Given the description of an element on the screen output the (x, y) to click on. 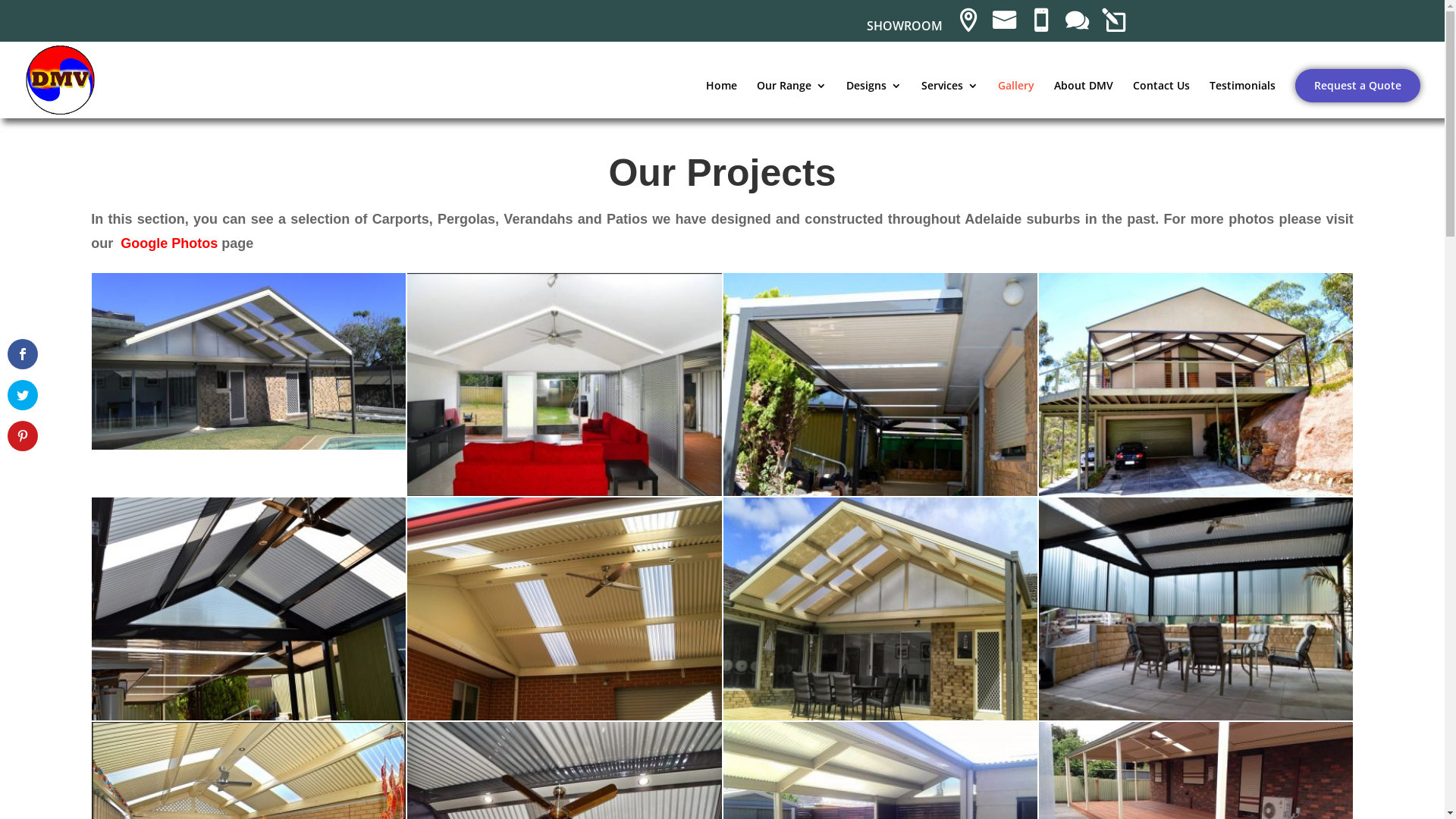
enclosed pergola verandah patio Element type: hover (564, 491)
Home Element type: text (721, 99)
patio paving kidman pk SA 1 Element type: hover (880, 716)
Google Photos Element type: text (168, 243)
Services Element type: text (949, 99)
About DMV Element type: text (1083, 99)
Contact Us Element type: text (1160, 99)
l Element type: text (1112, 28)
SHOWROOM Element type: text (903, 30)
patio pergola verandah paving Element type: hover (1195, 716)
patio designs aberfoyle pk south adelaide Element type: hover (248, 716)
patios southern adelaide Element type: hover (880, 491)
patio ideas highbury SA Element type: hover (564, 716)
Testimonials Element type: text (1242, 99)
Designs pergola verandah patio carport Element type: hover (248, 445)
Gallery Element type: text (1015, 99)
Designs Element type: text (873, 99)
patio Element type: hover (1195, 491)
Request a Quote Element type: text (1357, 85)
Our Range Element type: text (791, 99)
